Given the description of an element on the screen output the (x, y) to click on. 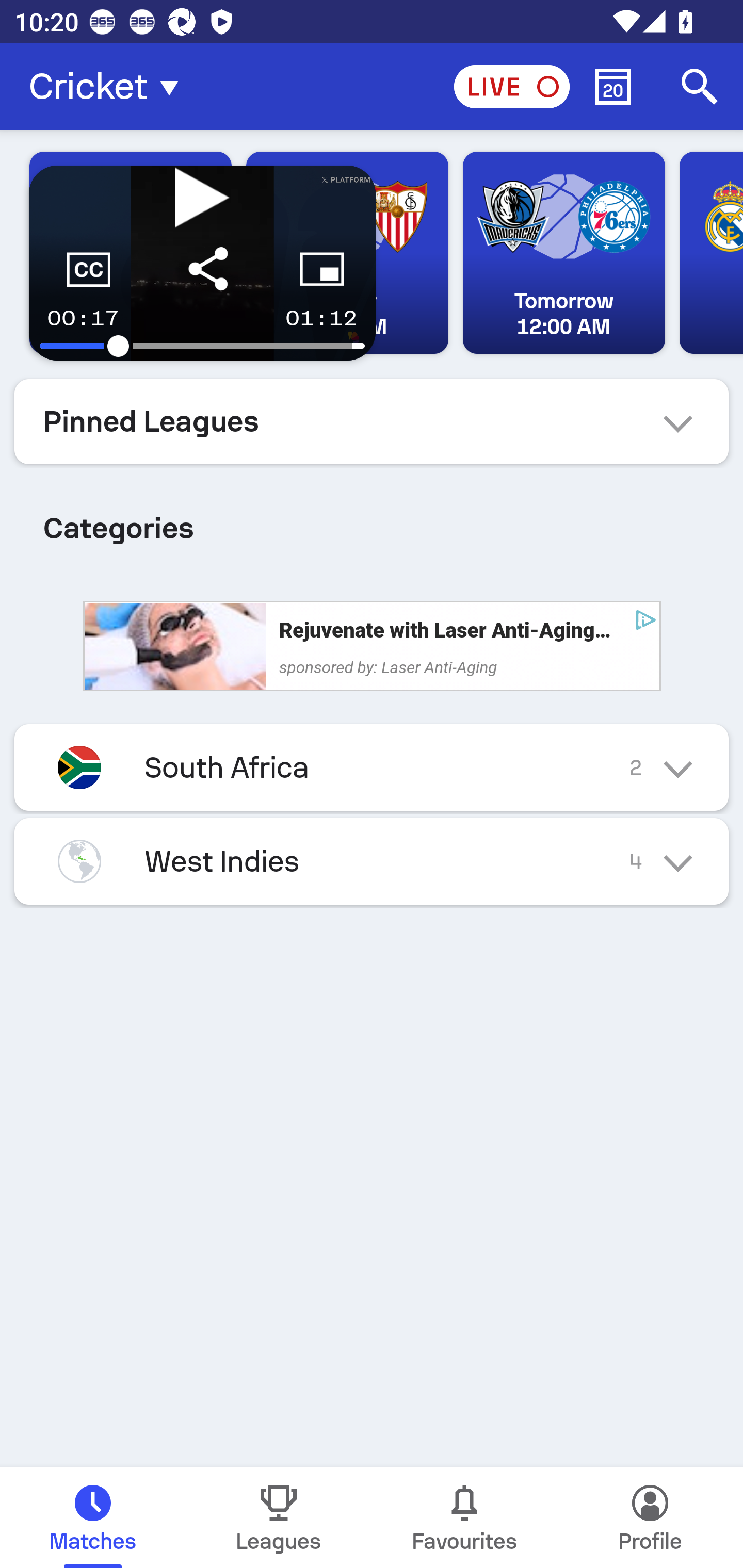
Cricket (109, 86)
Calendar (612, 86)
Search (699, 86)
Tomorrow
12:00 AM (563, 253)
Pinned Leagues (371, 421)
Categories (371, 520)
achoice (644, 618)
South Africa 2 (371, 767)
West Indies 4 (371, 861)
Leagues (278, 1517)
Favourites (464, 1517)
Profile (650, 1517)
